Given the description of an element on the screen output the (x, y) to click on. 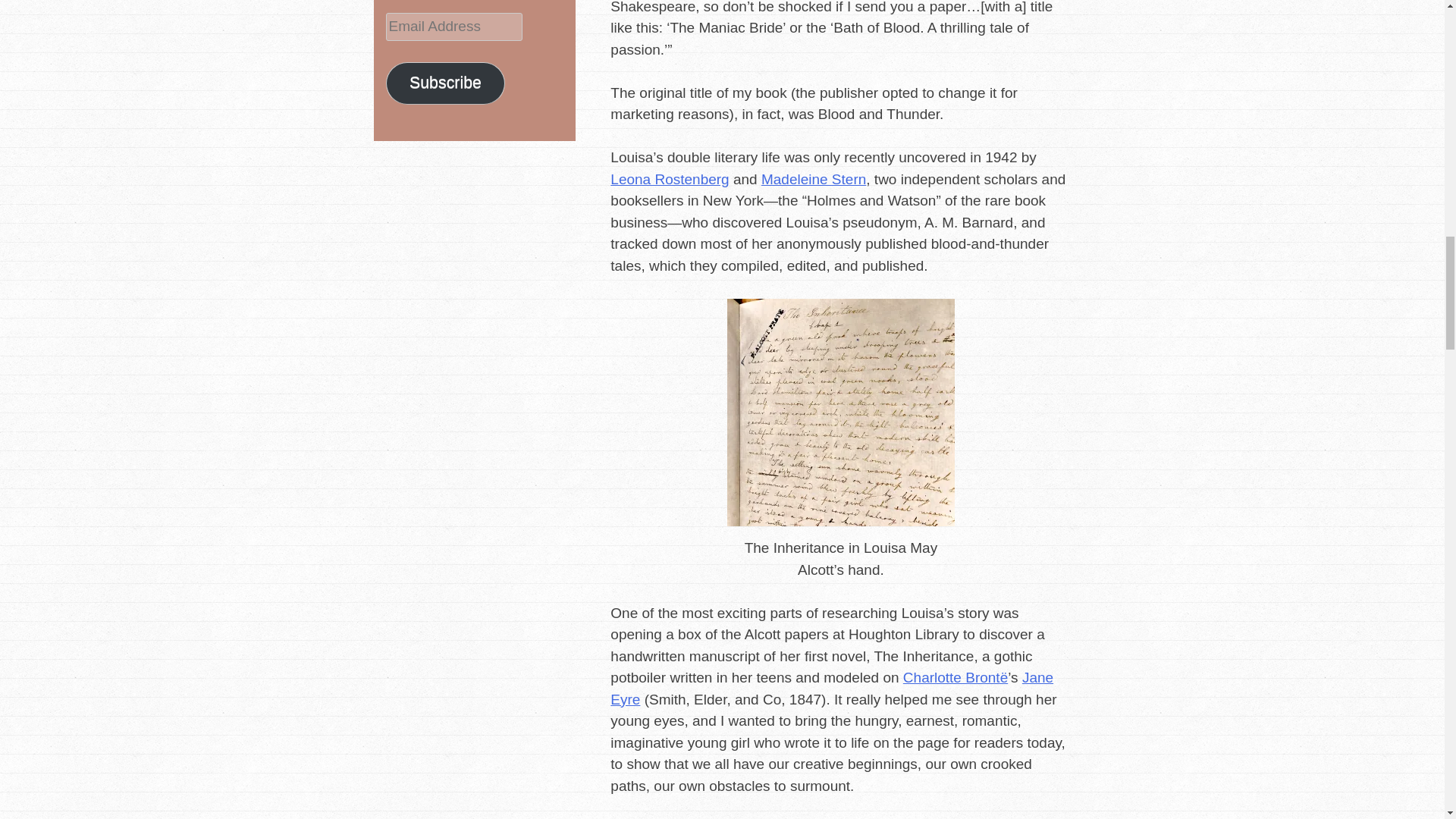
Jane Eyre (831, 688)
Madeleine Stern (813, 179)
Leona Rostenberg (669, 179)
